Given the description of an element on the screen output the (x, y) to click on. 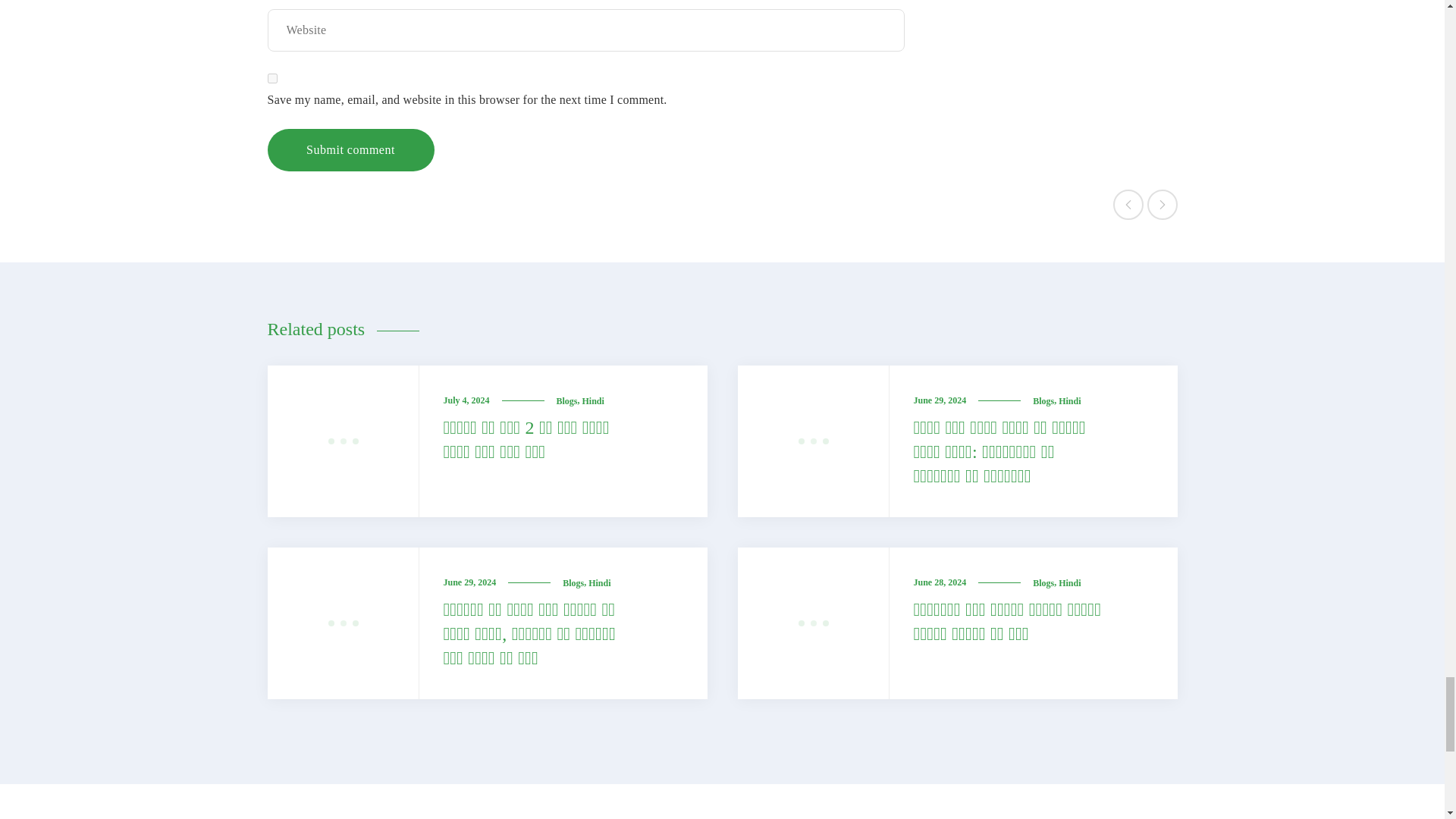
yes (271, 78)
Submit comment (349, 149)
